Given the description of an element on the screen output the (x, y) to click on. 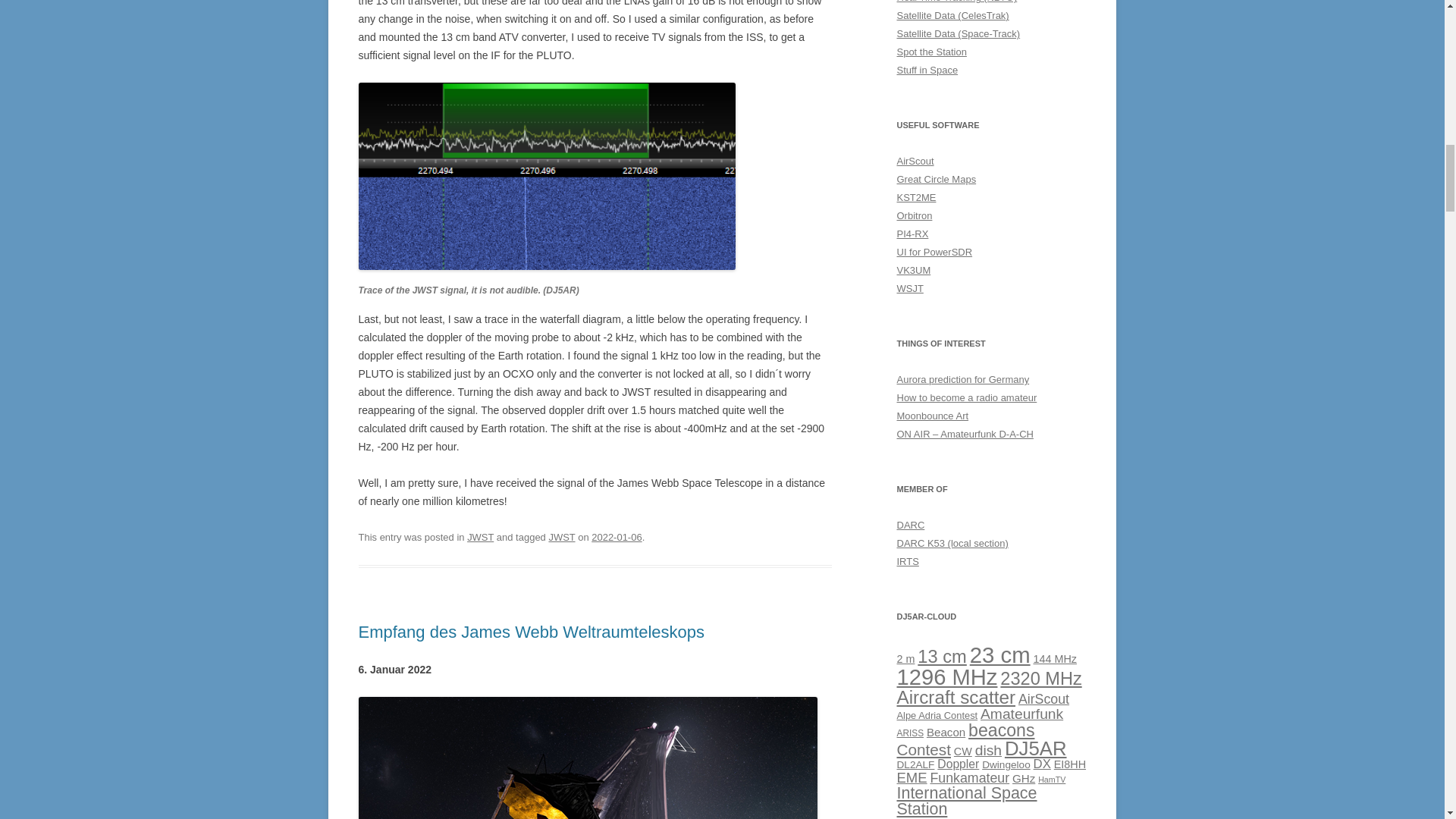
JWST (561, 536)
JWST (480, 536)
Empfang des James Webb Weltraumteleskops (531, 631)
2022-01-06 (616, 536)
18:02 (616, 536)
